Given the description of an element on the screen output the (x, y) to click on. 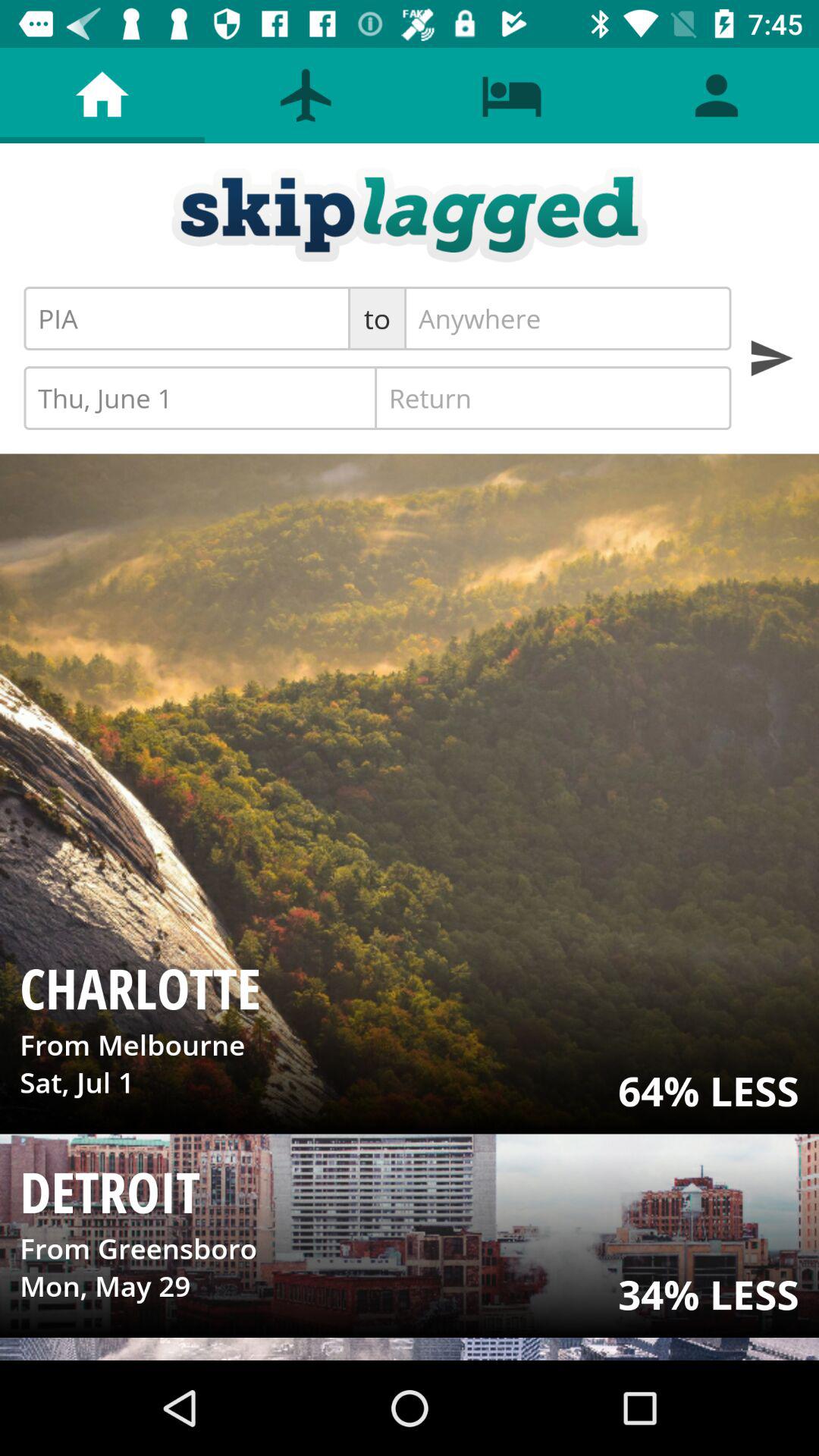
click thu, june 1 icon (202, 397)
